Given the description of an element on the screen output the (x, y) to click on. 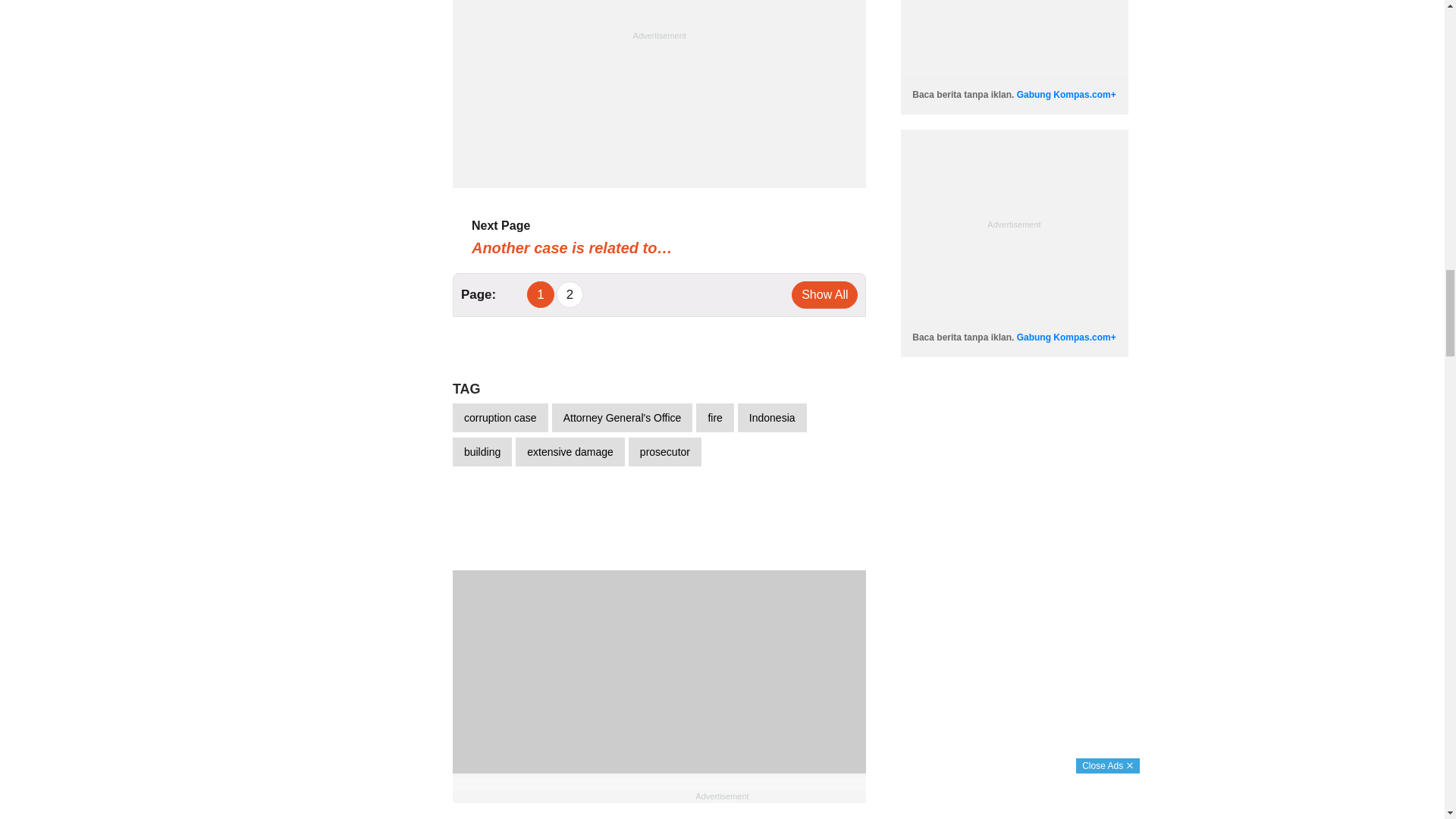
Attorney General's Office (622, 417)
prosecutor (664, 451)
corruption case (500, 417)
fire (714, 417)
building (482, 451)
Indonesia (772, 417)
extensive damage (569, 451)
